Given the description of an element on the screen output the (x, y) to click on. 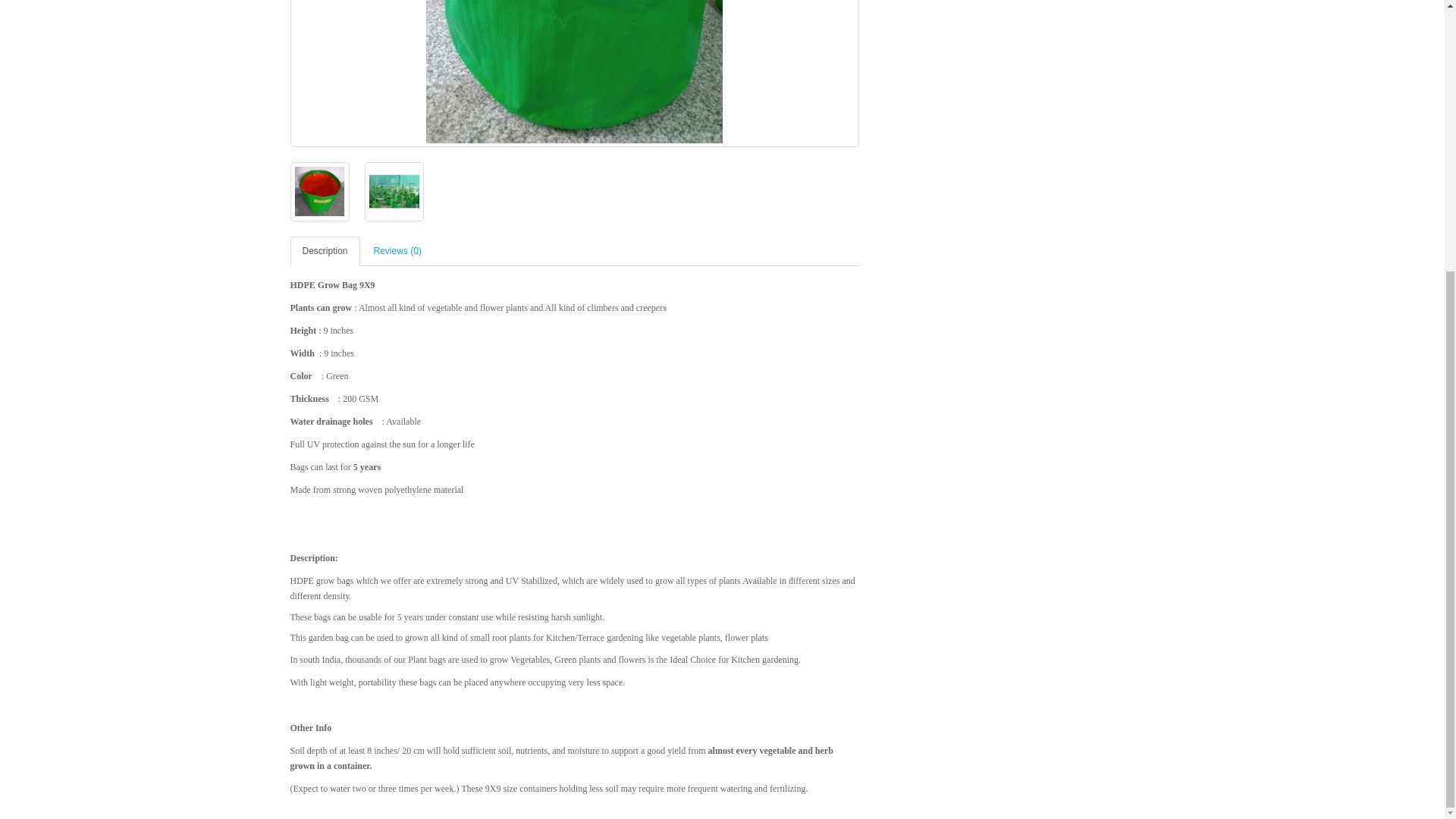
HDPE Grow Bag 9X9  inch (318, 192)
HDPE Grow Bag 9X9  inch (574, 71)
Description (324, 251)
HDPE Grow Bag 9X9  inch (393, 192)
HDPE Grow Bag 9X9  inch (393, 191)
HDPE Grow Bag 9X9  inch (319, 191)
HDPE Grow Bag 9X9  inch (574, 73)
